Given the description of an element on the screen output the (x, y) to click on. 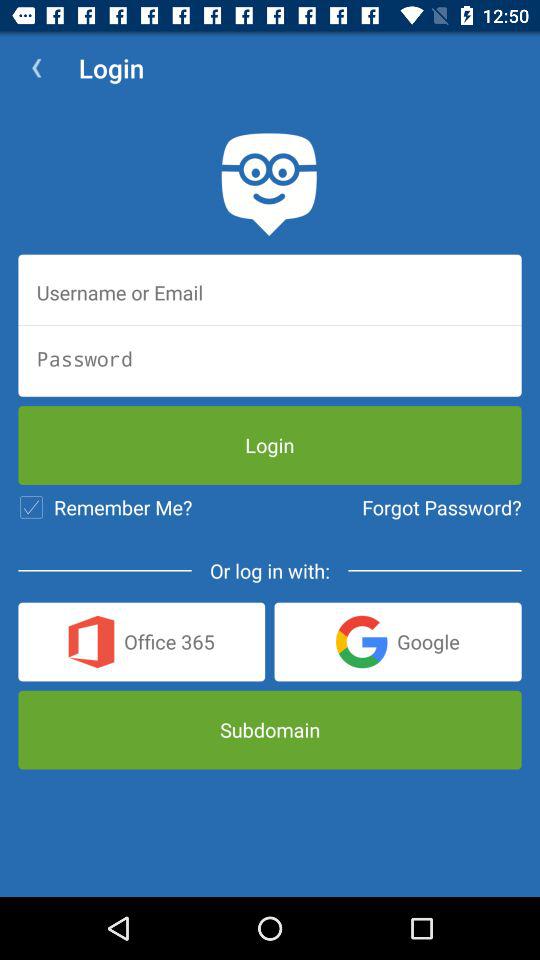
flip to subdomain icon (269, 729)
